Given the description of an element on the screen output the (x, y) to click on. 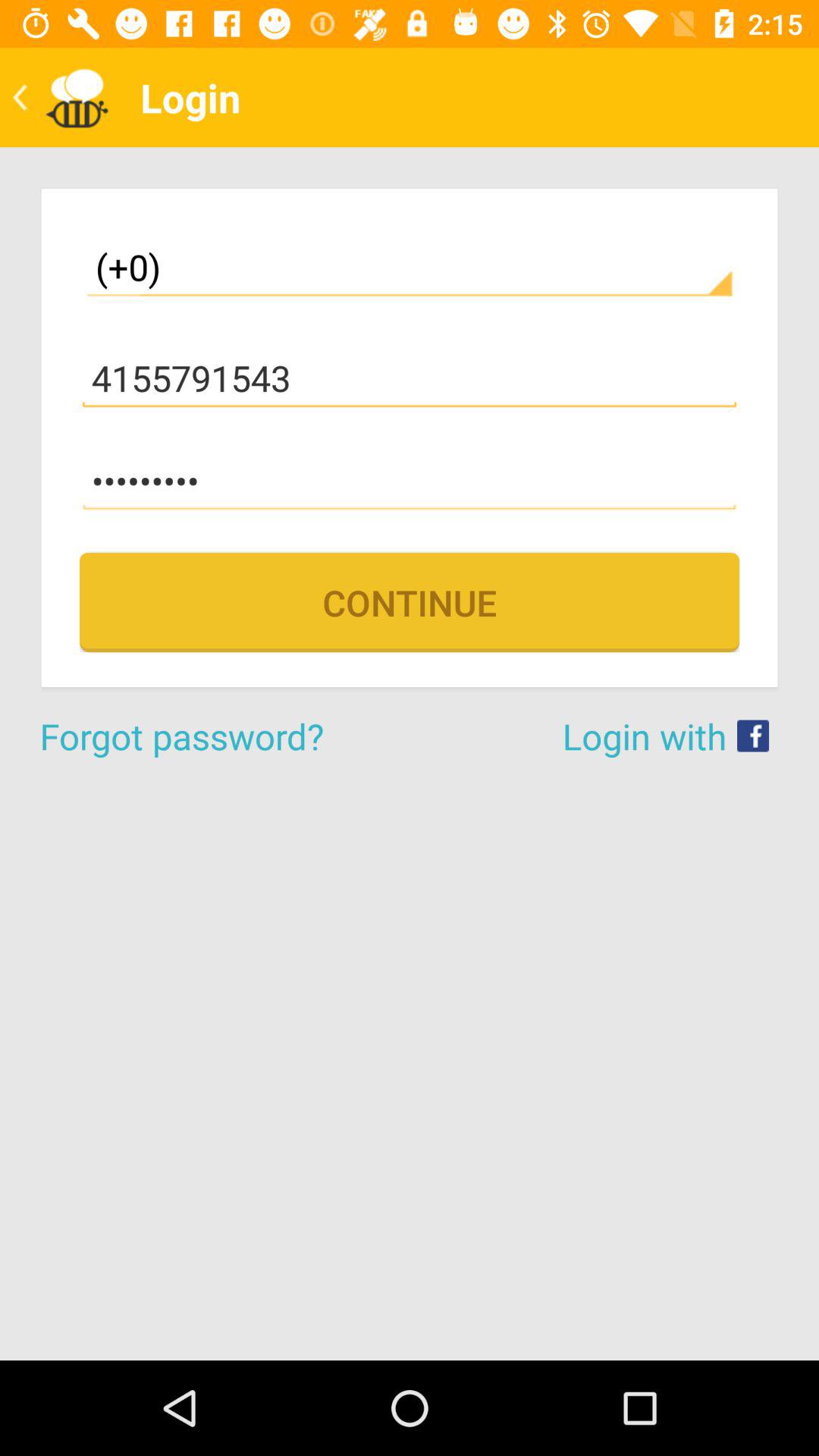
scroll until forgot password? item (224, 736)
